Given the description of an element on the screen output the (x, y) to click on. 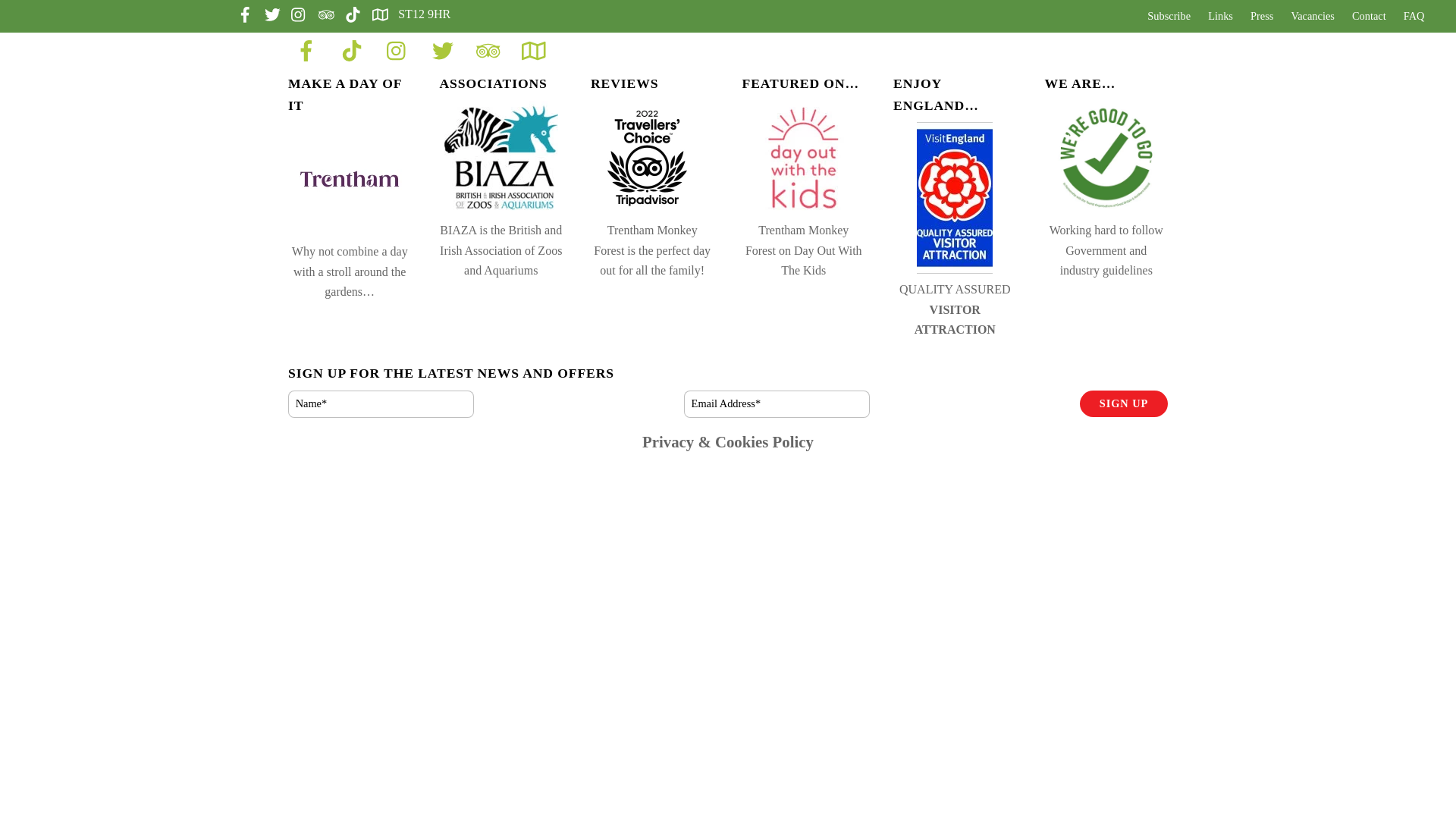
ST12 9HR (412, 14)
Sign Up (1123, 403)
Subscribe Links Press Vacancies Contact FAQ (1285, 15)
Sign Up (1123, 403)
Contact (1368, 16)
Vacancies (1312, 16)
Press (1261, 16)
day-out-with-kids (803, 157)
Subscribe (1168, 16)
Travellers-choice (652, 157)
FAQ (1413, 16)
Links (1220, 16)
biaza-logo (500, 157)
